Given the description of an element on the screen output the (x, y) to click on. 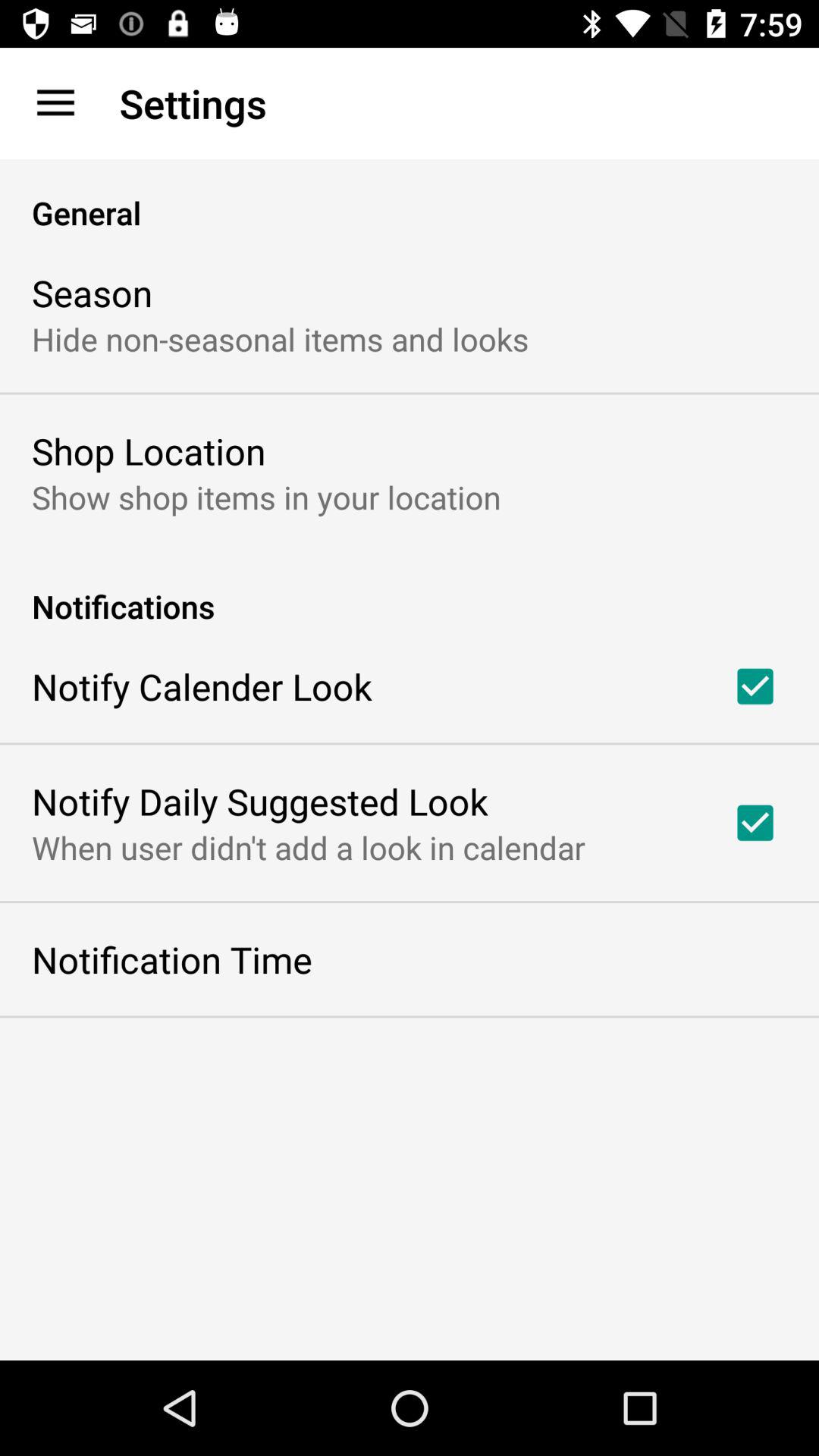
swipe until notify daily suggested (259, 800)
